Given the description of an element on the screen output the (x, y) to click on. 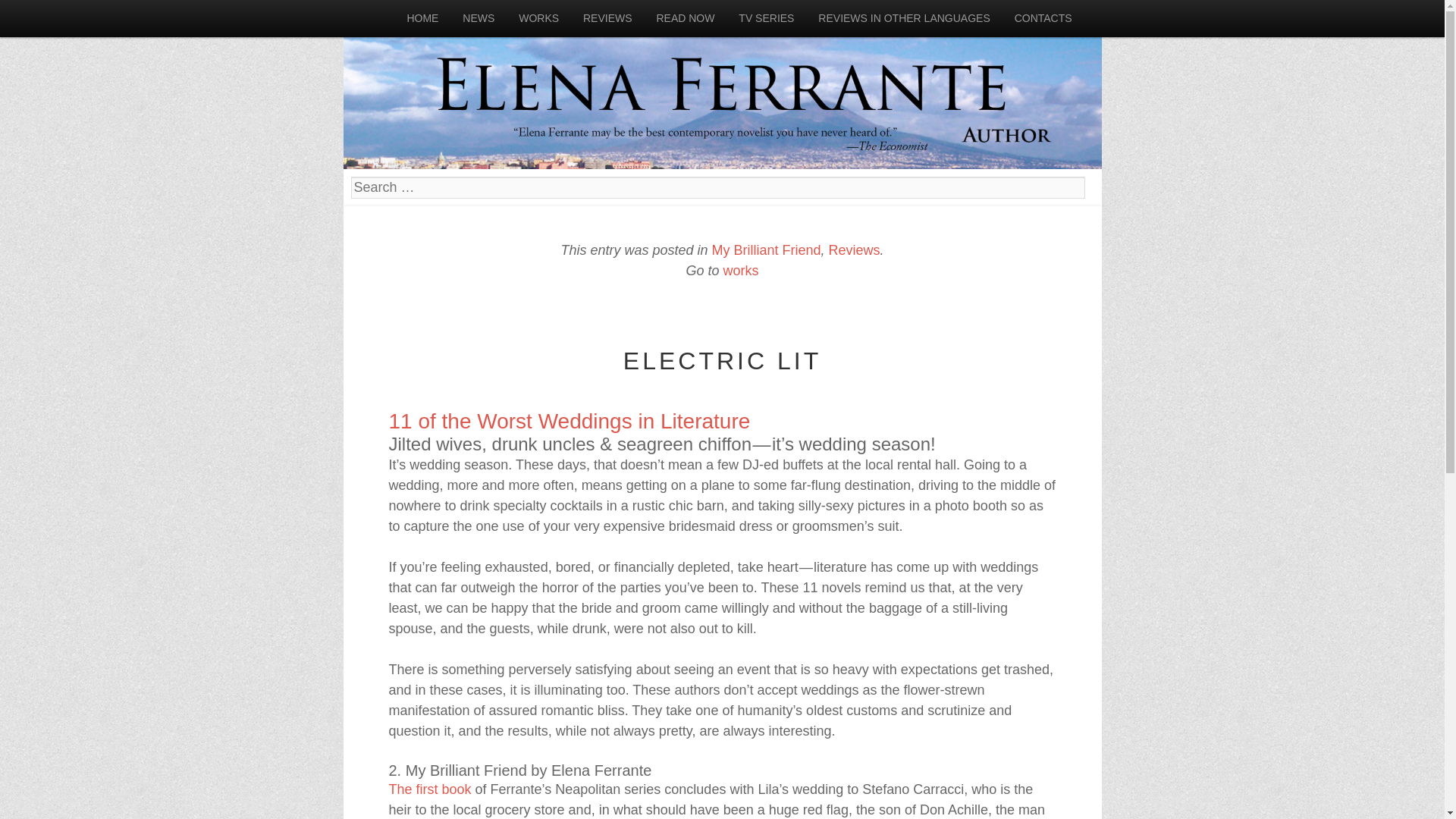
NEWS (478, 18)
READ NOW (685, 18)
HOME (422, 18)
SKIP TO CONTENT (58, 18)
Elena Ferrante (721, 84)
TV SERIES (766, 18)
Skip to content (58, 18)
WORKS (538, 18)
REVIEWS (607, 18)
REVIEWS IN OTHER LANGUAGES (904, 18)
